Given the description of an element on the screen output the (x, y) to click on. 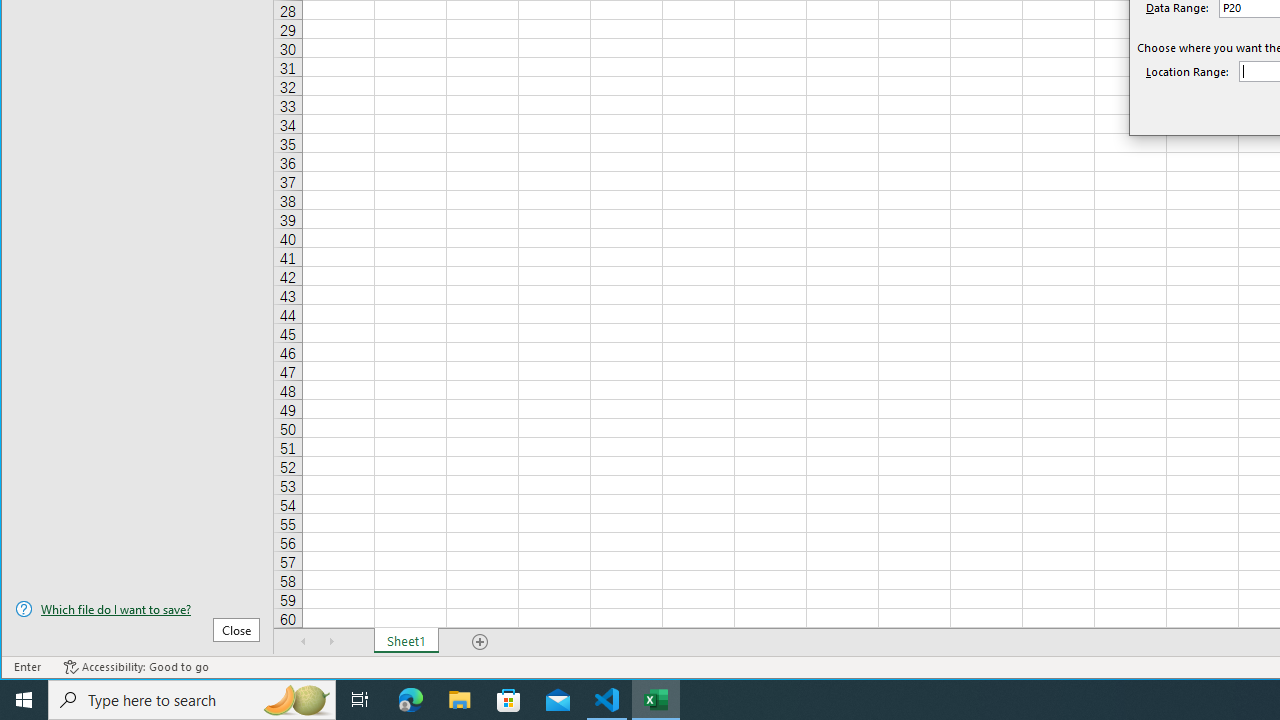
Add Sheet (481, 641)
File Explorer (460, 699)
